Given the description of an element on the screen output the (x, y) to click on. 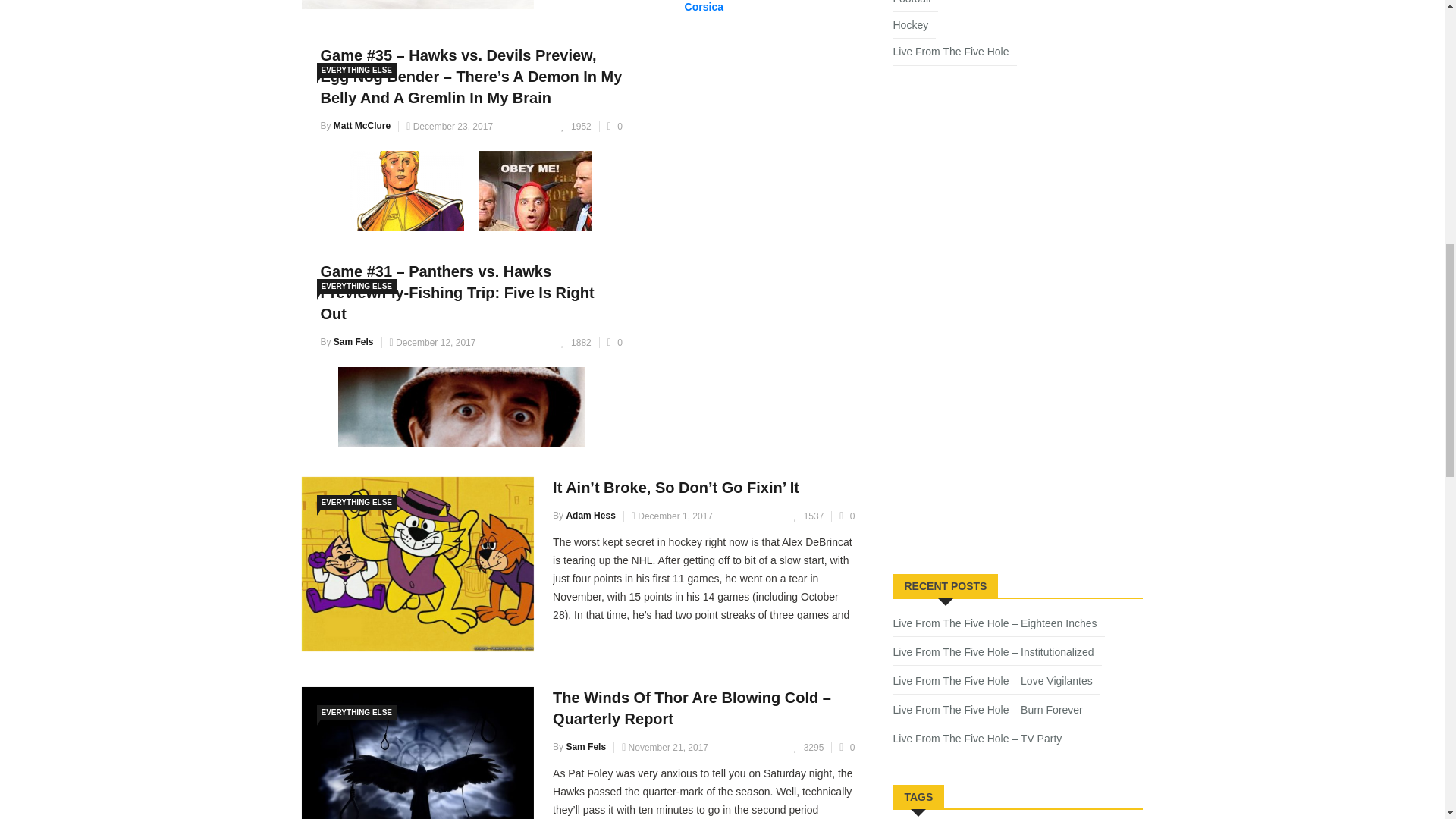
Matt McClure (361, 125)
EVERYTHING ELSE (357, 70)
December 23, 2017 (449, 126)
Advertisement (1007, 443)
Corsica (703, 6)
